Given the description of an element on the screen output the (x, y) to click on. 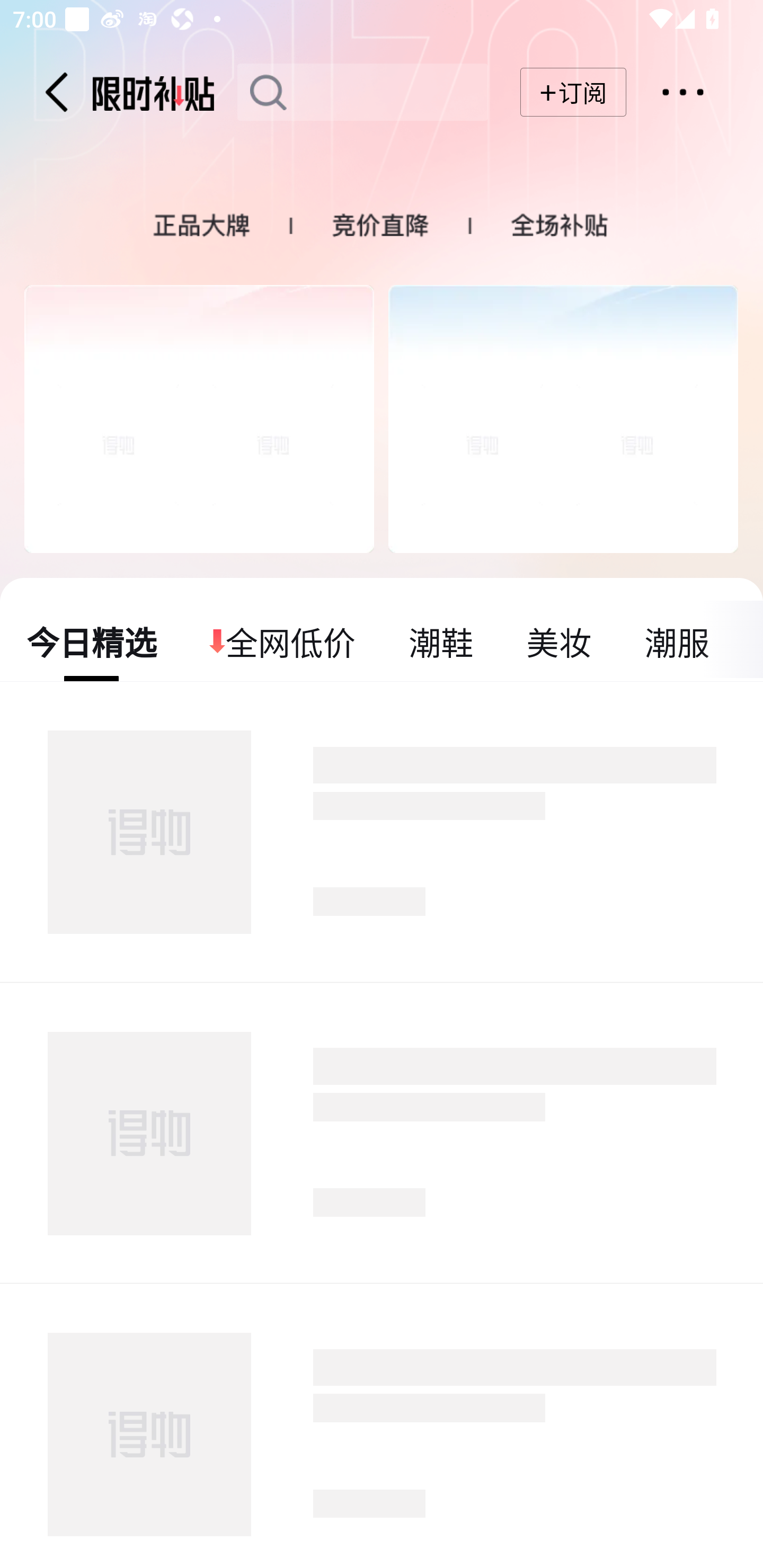
+订阅 (572, 92)
今日精选 (92, 640)
9e7fc8ca-86cd-3a08-4a56-57b9d219ca85-30-45 全网低价 (283, 640)
潮鞋 (440, 640)
美妆 (558, 640)
潮服 (676, 640)
